Given the description of an element on the screen output the (x, y) to click on. 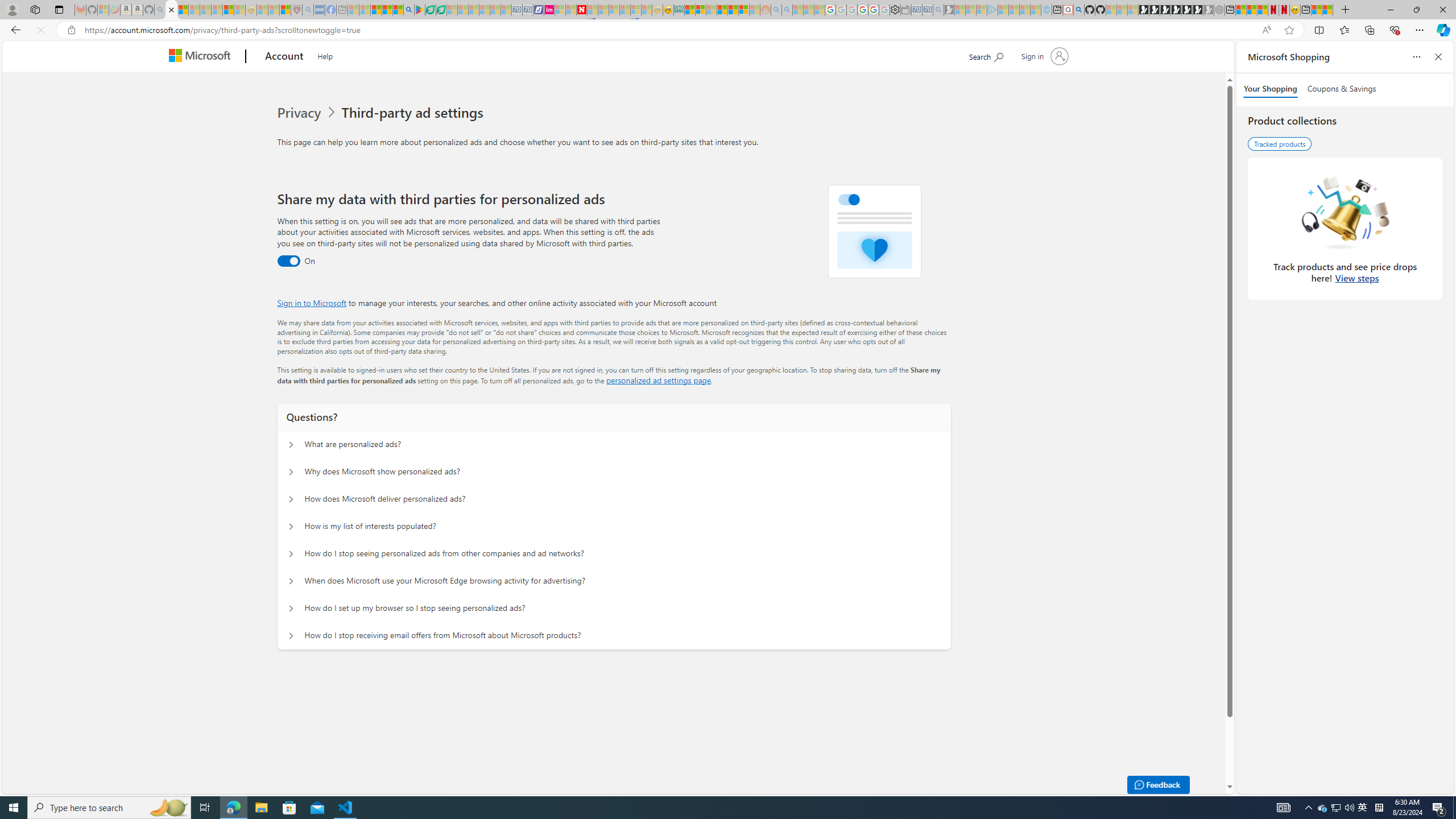
Questions? What are personalized ads? (290, 444)
Microsoft Word - consumer-privacy address update 2.2021 (440, 9)
Questions? How does Microsoft deliver personalized ads? (290, 499)
